Given the description of an element on the screen output the (x, y) to click on. 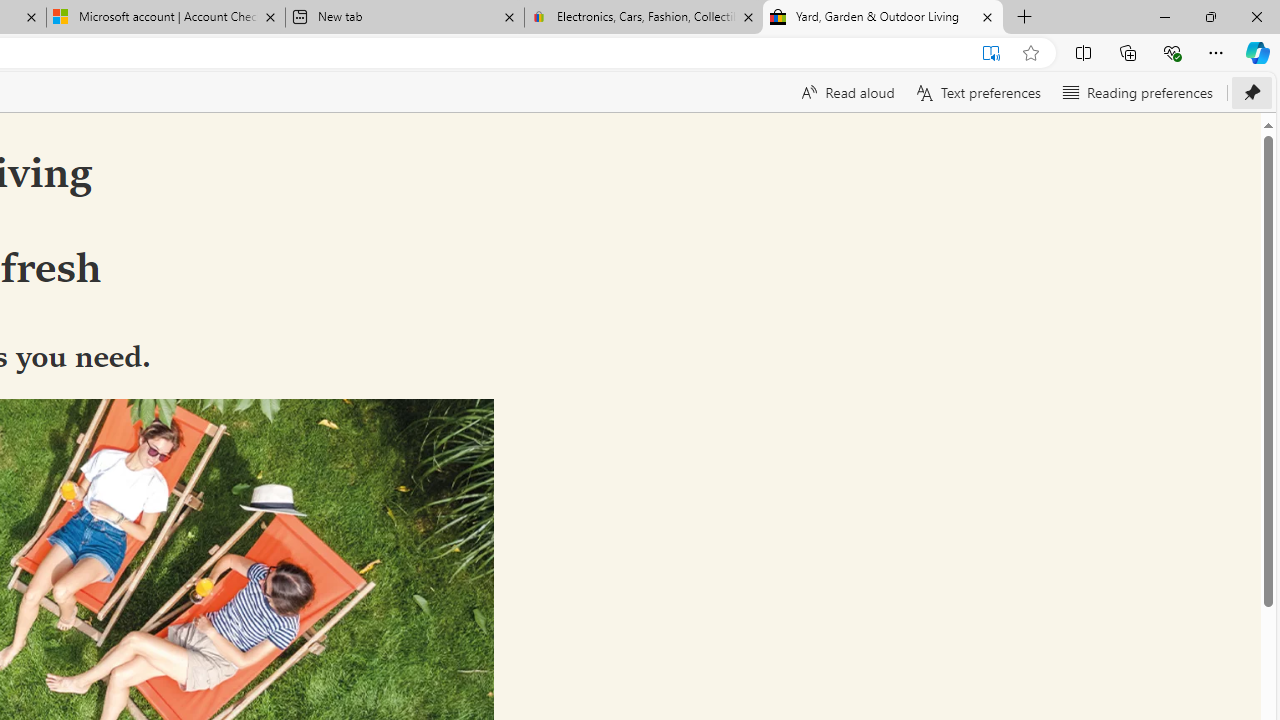
Text preferences (976, 92)
